Given the description of an element on the screen output the (x, y) to click on. 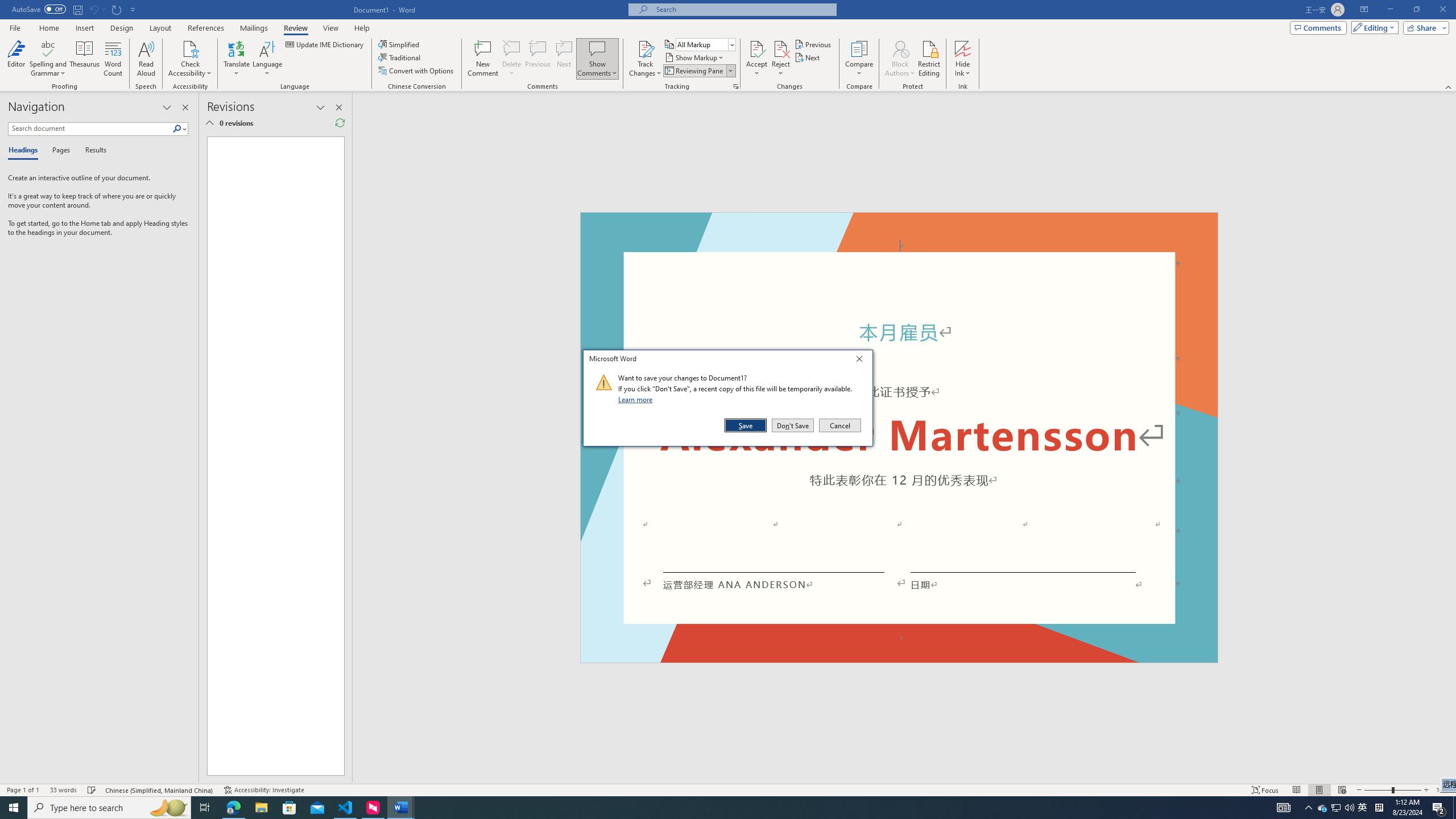
User Promoted Notification Area (1336, 807)
Hide Ink (962, 58)
Show Detailed Summary (209, 122)
Delete (511, 58)
Accessibility Checker Accessibility: Investigate (263, 790)
Block Authors (900, 58)
Convert with Options... (417, 69)
Show Comments (1322, 807)
Language (597, 58)
Word Count (267, 58)
Footer -Section 1- (113, 58)
